Given the description of an element on the screen output the (x, y) to click on. 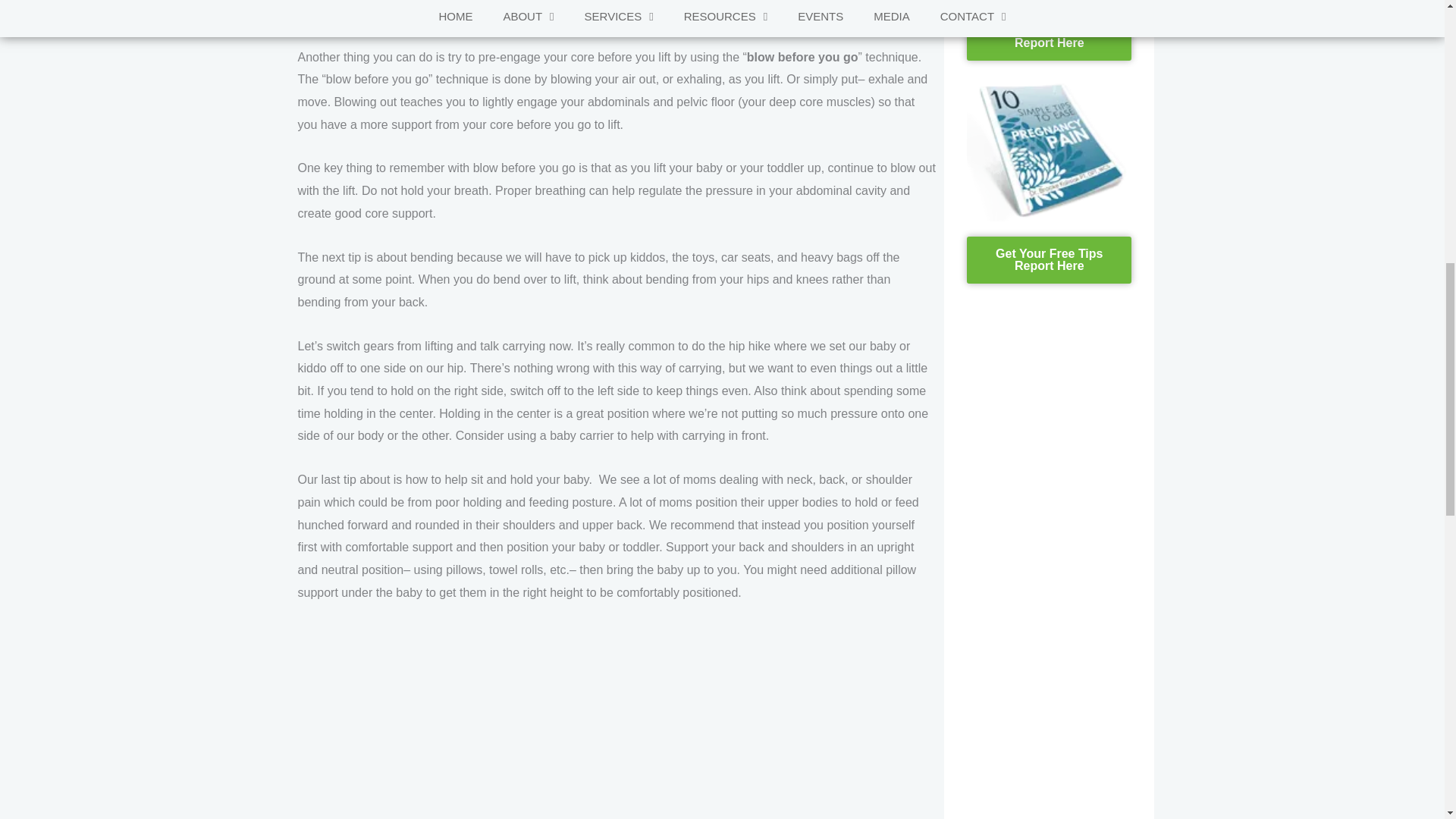
Self Care (616, 721)
